Given the description of an element on the screen output the (x, y) to click on. 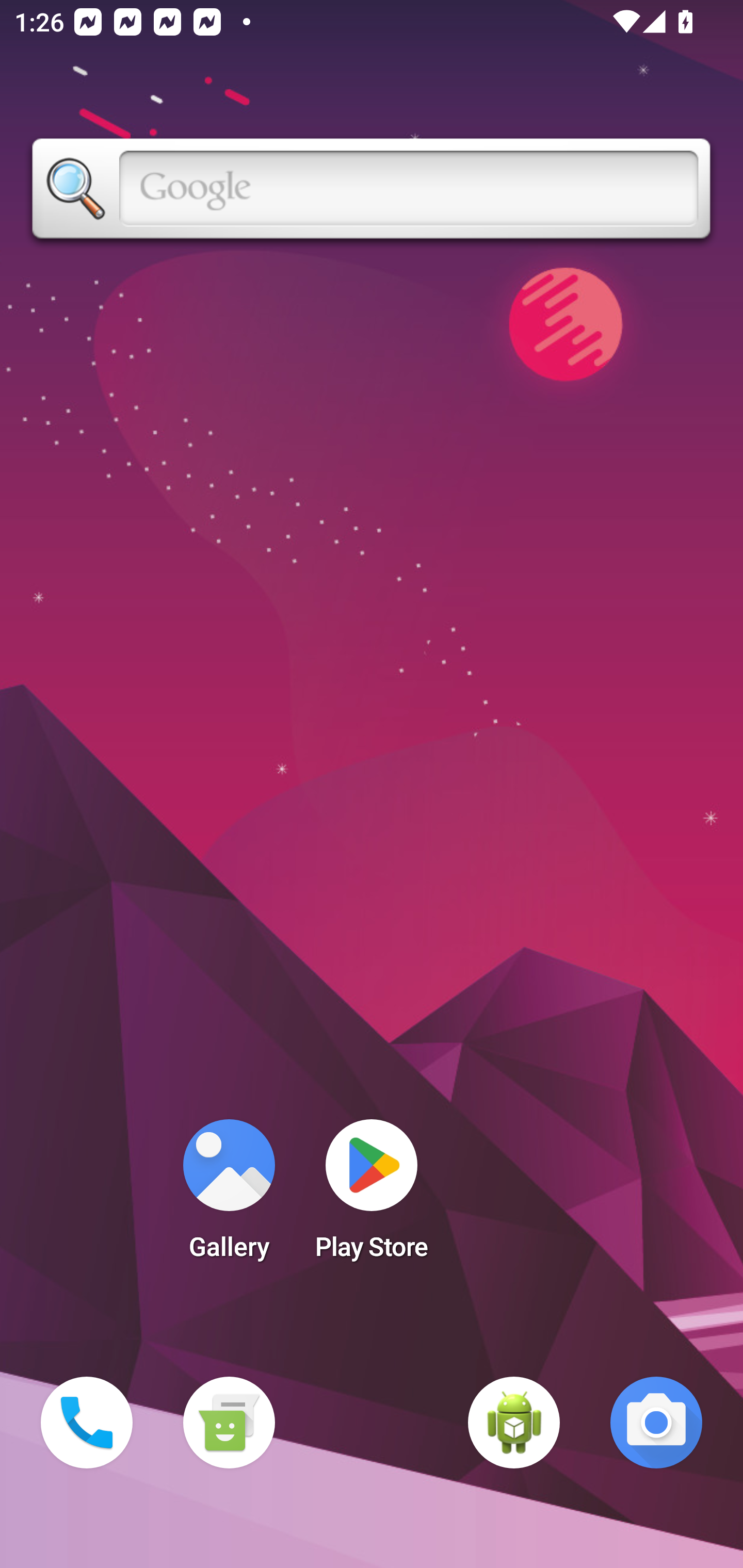
Gallery (228, 1195)
Play Store (371, 1195)
Phone (86, 1422)
Messaging (228, 1422)
WebView Browser Tester (513, 1422)
Camera (656, 1422)
